Given the description of an element on the screen output the (x, y) to click on. 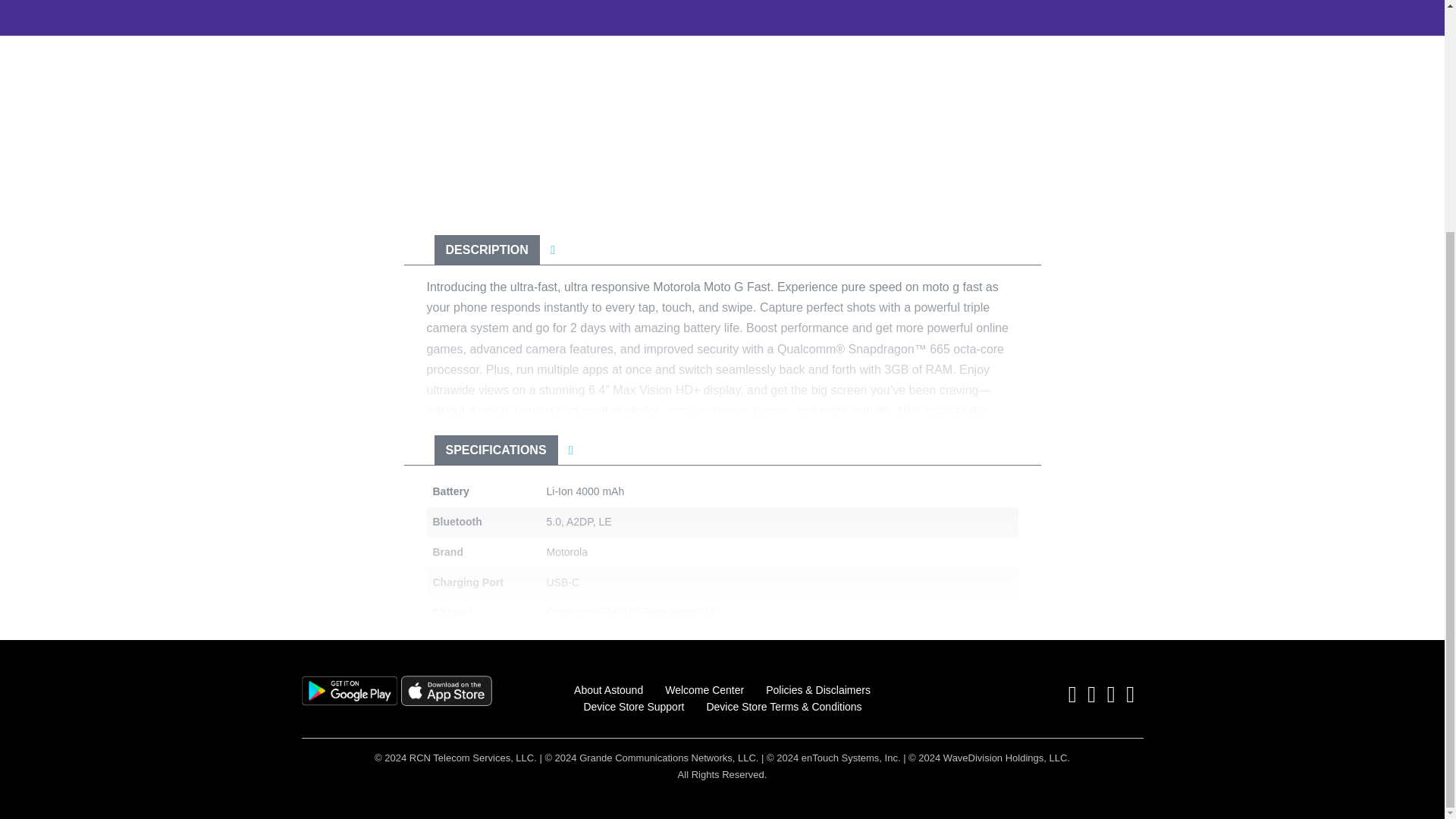
Qualcomm SM6125 Snapdragon 665 (633, 612)
DESCRIPTION (485, 249)
Motorola (566, 551)
5.0, A2DP, LE (578, 521)
Li-Ion 4000 mAh (585, 491)
SPECIFICATIONS (495, 449)
USB-C (562, 582)
